Given the description of an element on the screen output the (x, y) to click on. 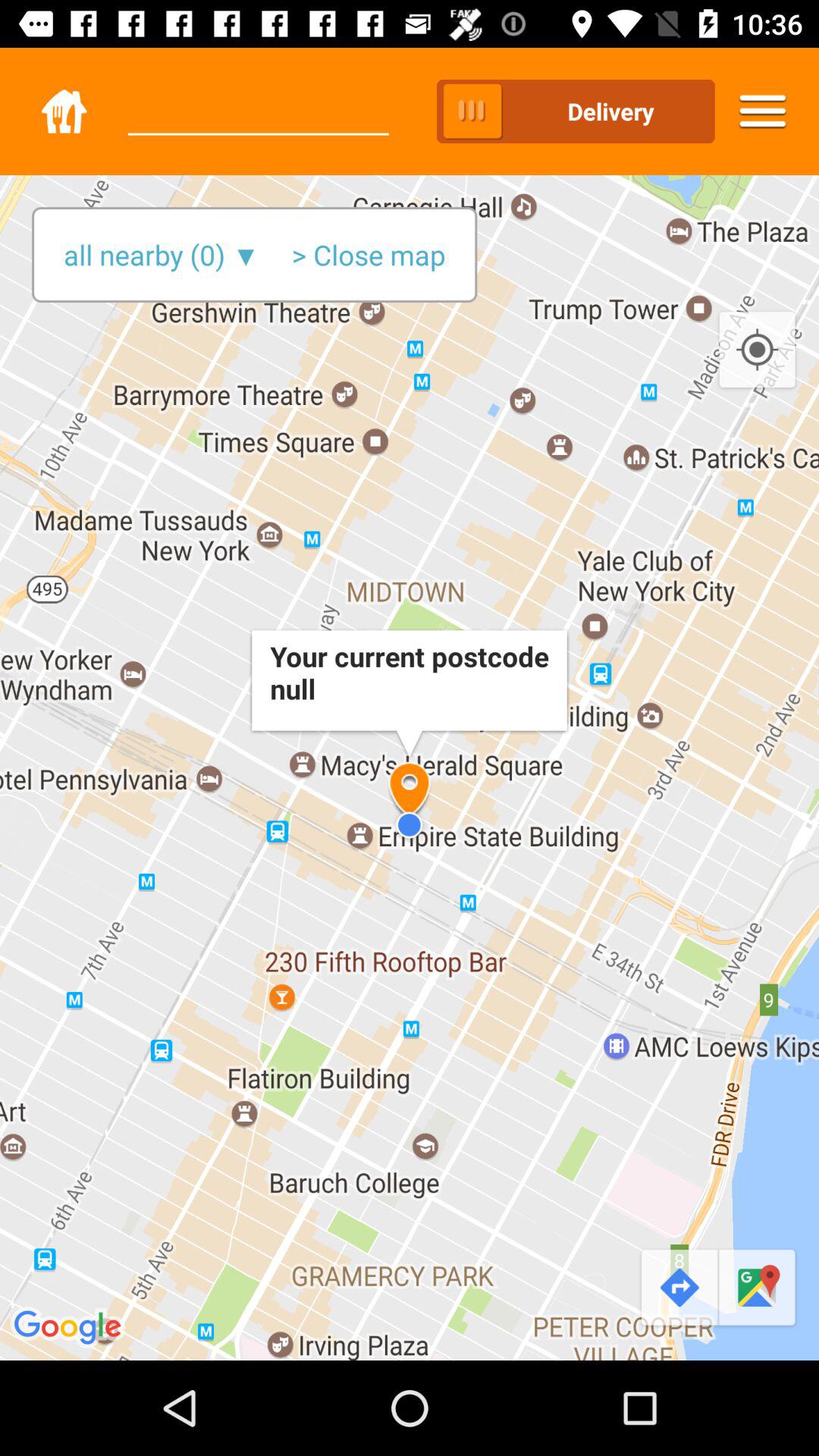
tap the icon below delivery icon (757, 350)
